Given the description of an element on the screen output the (x, y) to click on. 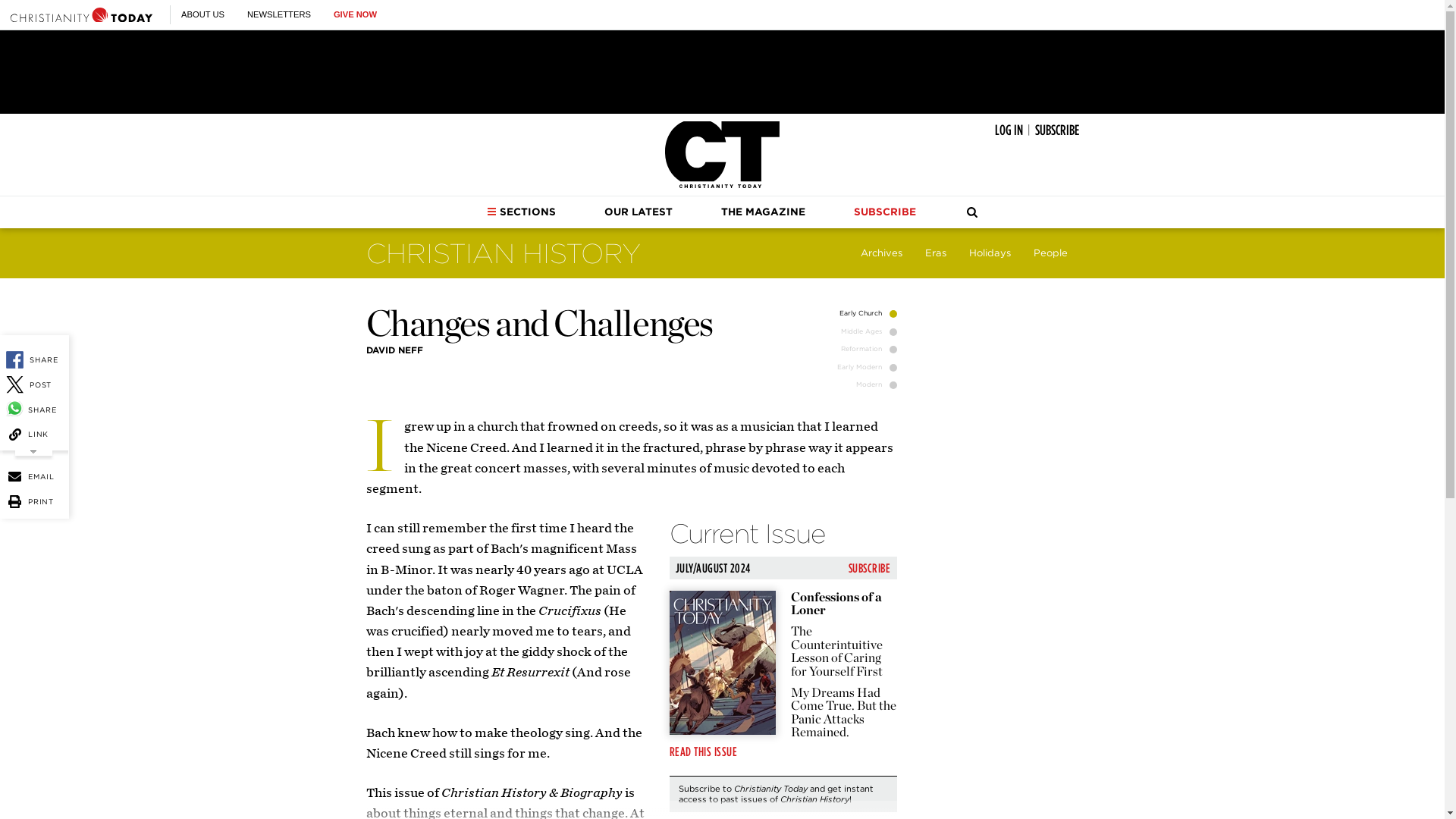
SECTIONS (521, 212)
Christianity Today (721, 154)
Sections Dropdown (491, 211)
NEWSLETTERS (278, 14)
GIVE NOW (355, 14)
3rd party ad content (721, 71)
Christianity Today (81, 14)
ABOUT US (202, 14)
SUBSCRIBE (1055, 130)
LOG IN (1008, 130)
